Given the description of an element on the screen output the (x, y) to click on. 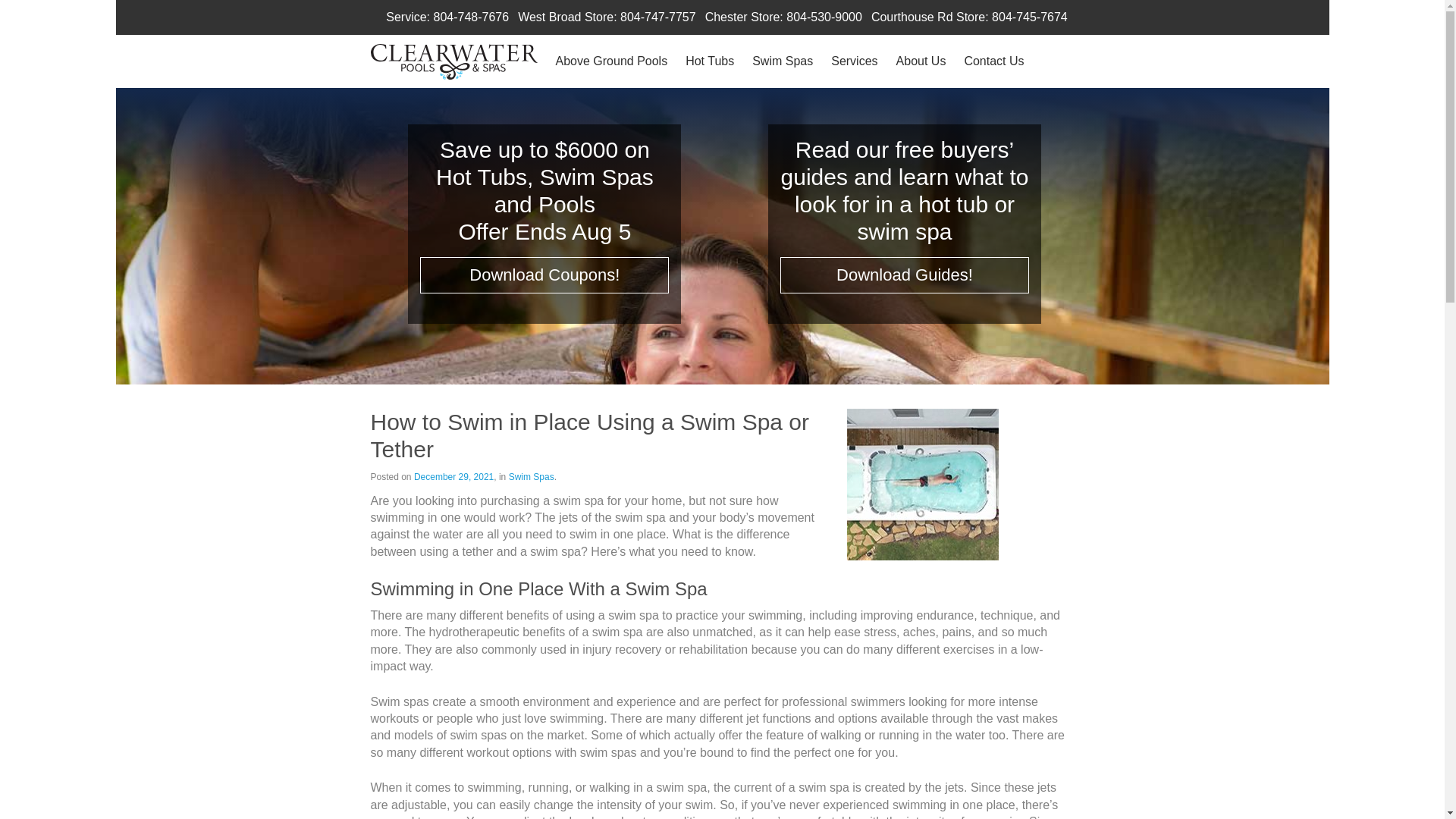
Above Ground Pools (610, 61)
Hot Tubs (709, 61)
Swim Spas (782, 61)
Download Guides! (904, 275)
Services (854, 61)
About Us (921, 61)
December 29, 2021 (453, 476)
Download Coupons! (544, 275)
Swim Spas (531, 476)
Contact Us (993, 61)
